Given the description of an element on the screen output the (x, y) to click on. 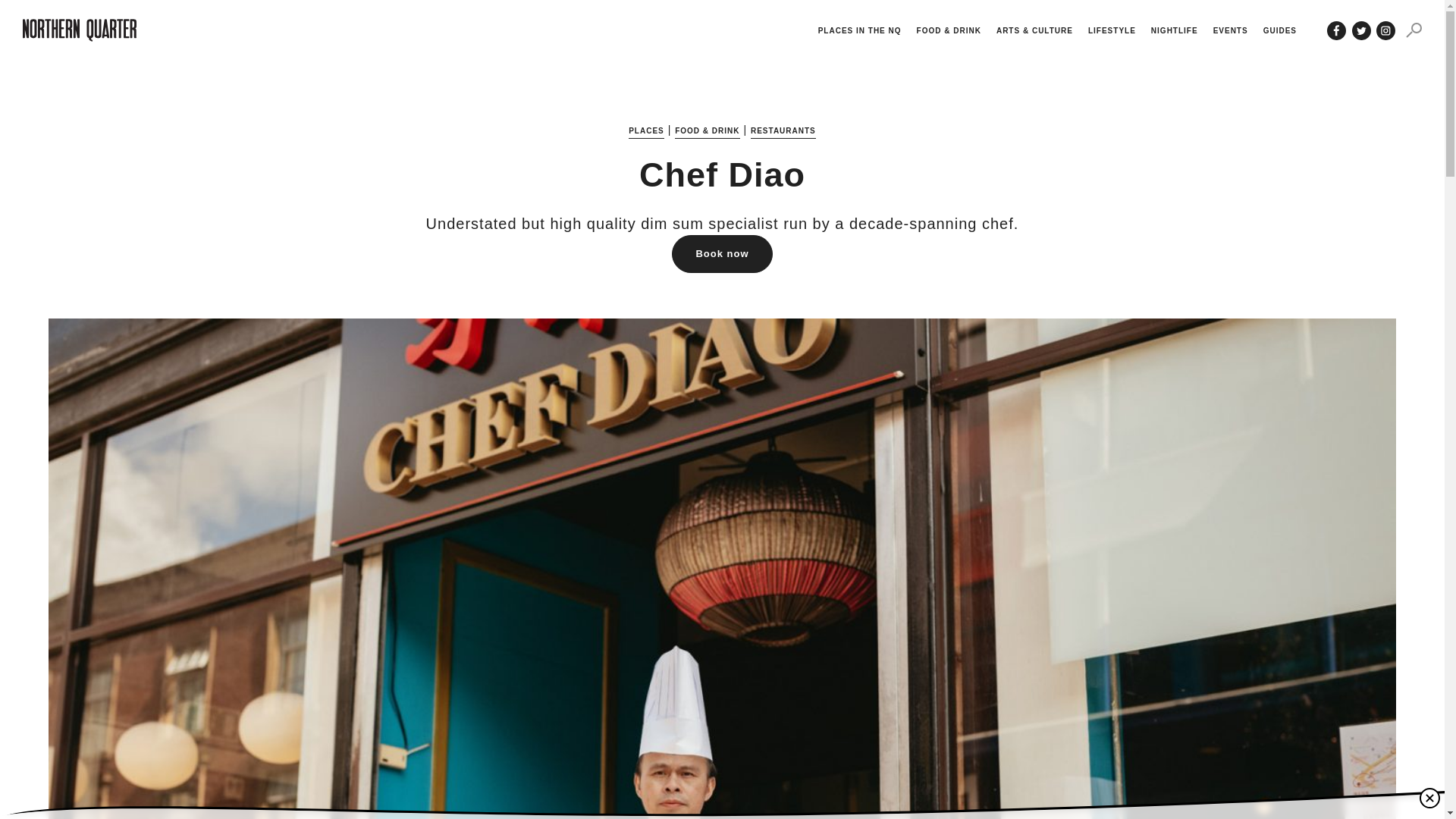
PLACES IN THE NQ (859, 30)
LIFESTYLE (1111, 30)
GUIDES (1280, 30)
Book now (721, 253)
NIGHTLIFE (1174, 30)
PLACES (645, 130)
Search (1414, 29)
Northern Quarter Manchester (79, 30)
RESTAURANTS (783, 130)
EVENTS (1229, 30)
